Given the description of an element on the screen output the (x, y) to click on. 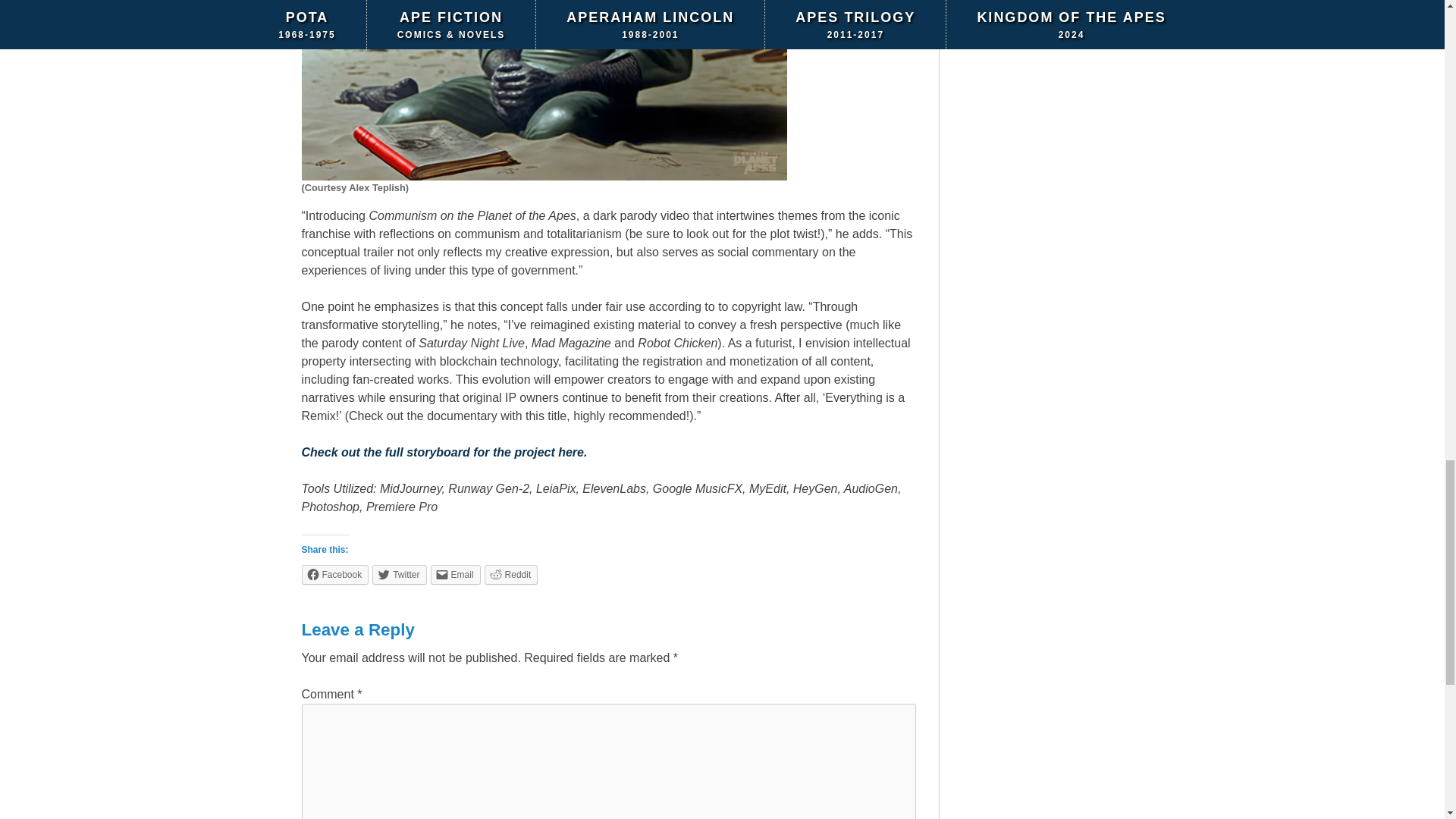
Click to email a link to a friend (455, 573)
Reddit (511, 573)
Check out the full storyboard for the project here. (444, 451)
Click to share on Twitter (399, 573)
Click to share on Facebook (335, 573)
Email (455, 573)
Twitter (399, 573)
Facebook (335, 573)
Click to share on Reddit (511, 573)
